Given the description of an element on the screen output the (x, y) to click on. 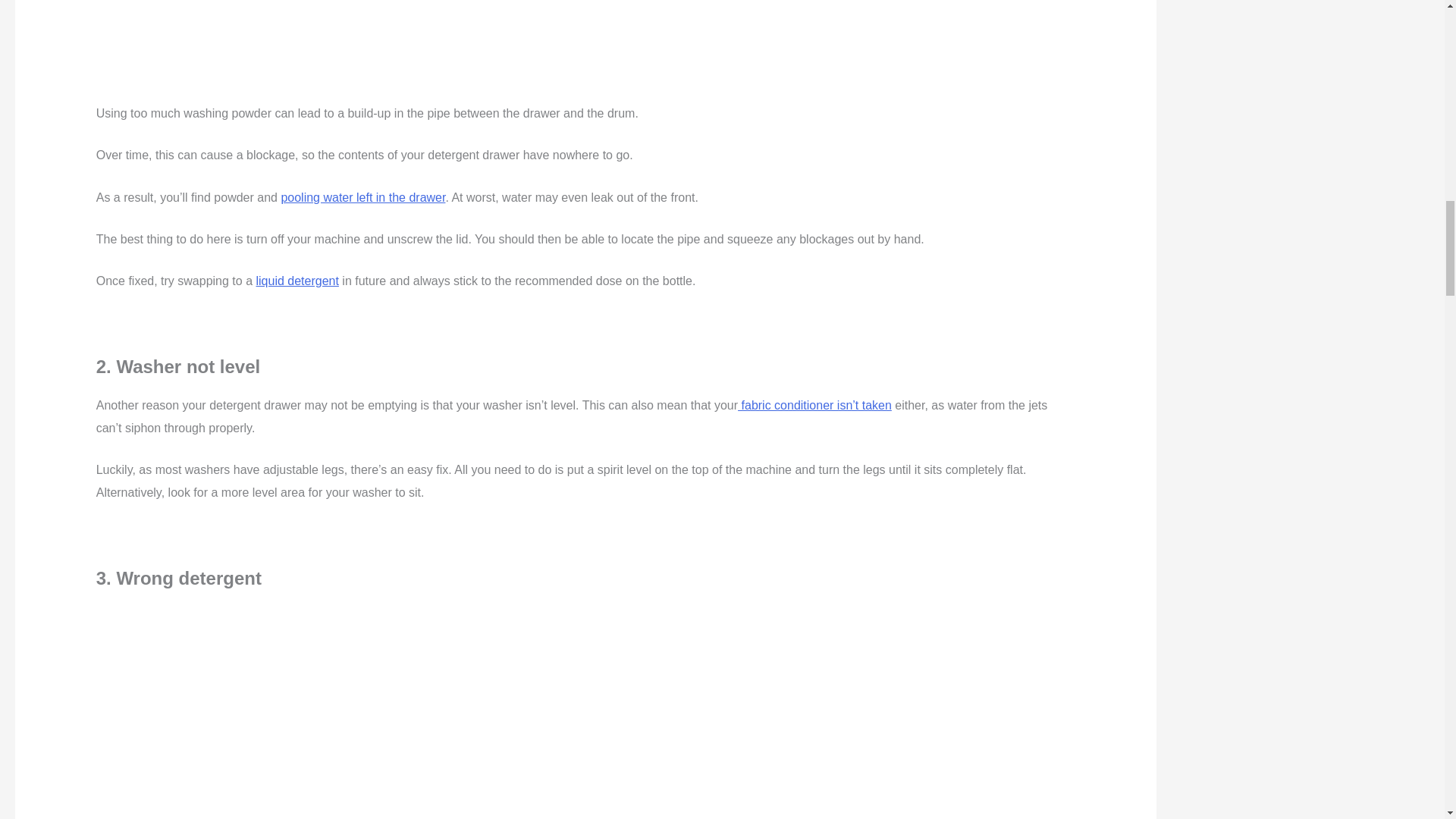
liquid detergent (297, 280)
pooling water left in the drawer (363, 196)
